Given the description of an element on the screen output the (x, y) to click on. 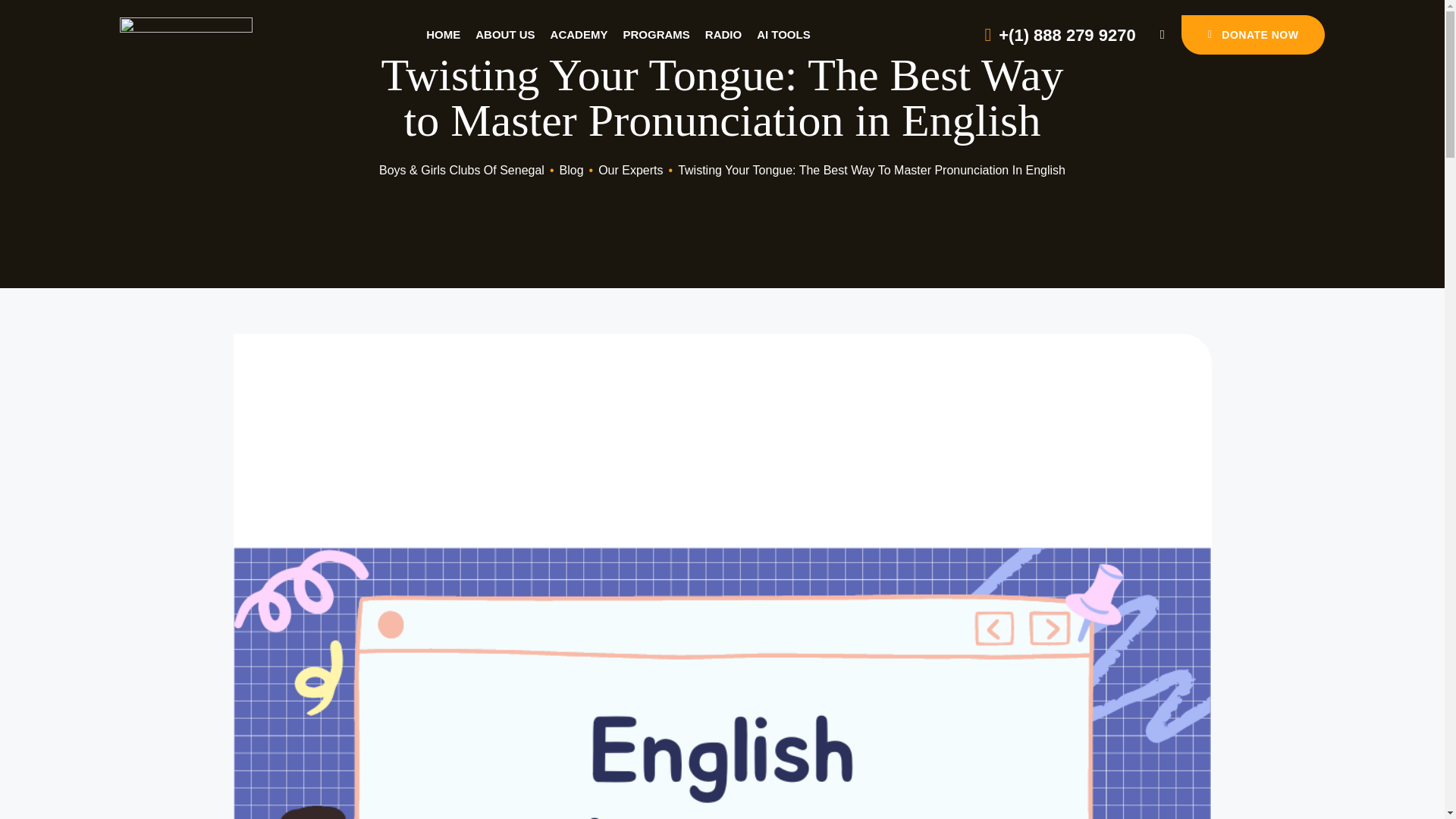
RADIO (722, 34)
Blog (571, 169)
Our Experts (630, 169)
ABOUT US (505, 34)
DONATE NOW (1252, 34)
PROGRAMS (655, 34)
Go to Blog. (571, 169)
ACADEMY (579, 34)
AI TOOLS (783, 34)
Go to the Our Experts category archives. (630, 169)
